Given the description of an element on the screen output the (x, y) to click on. 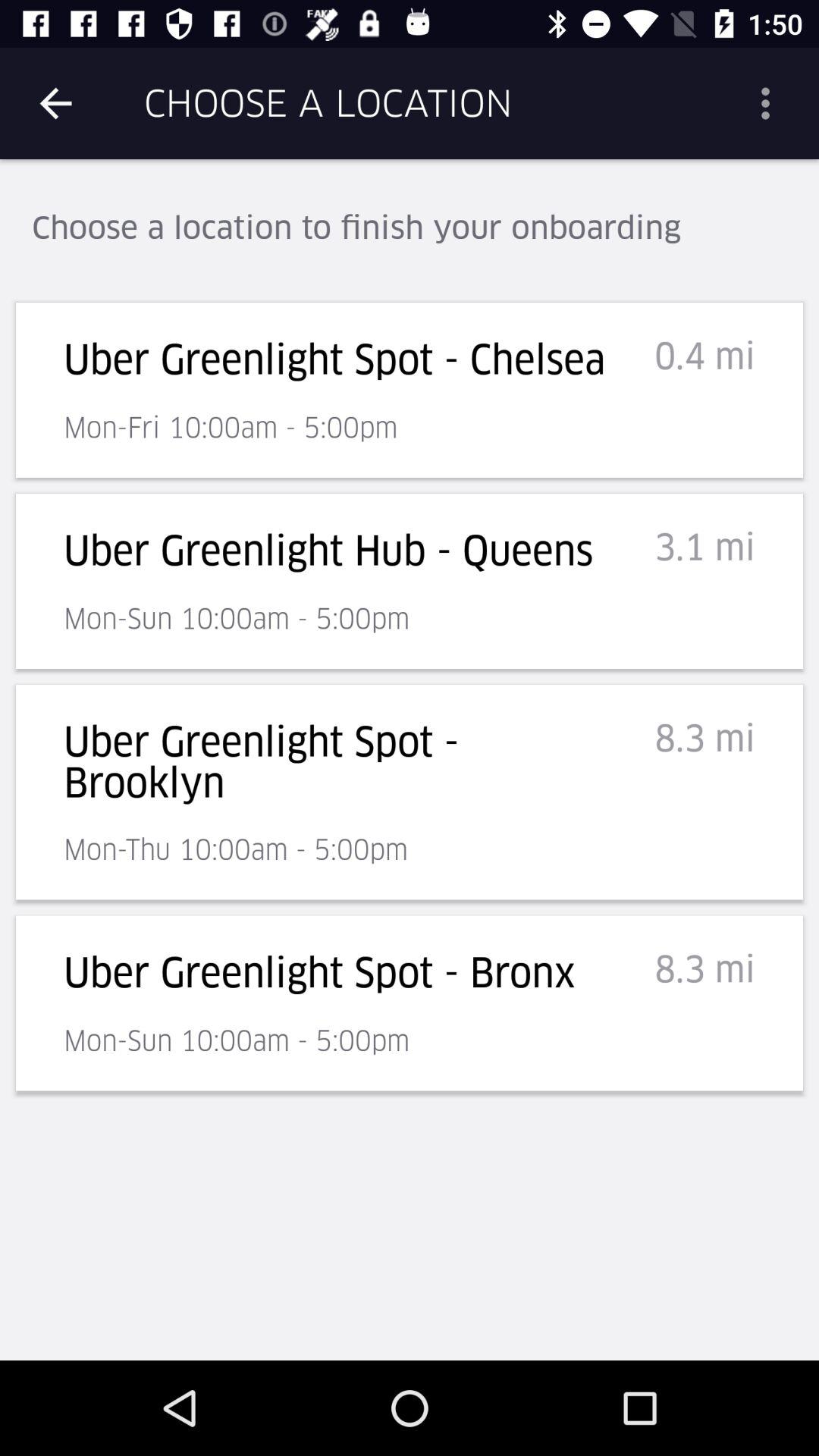
turn off the item next to the choose a location icon (771, 103)
